Given the description of an element on the screen output the (x, y) to click on. 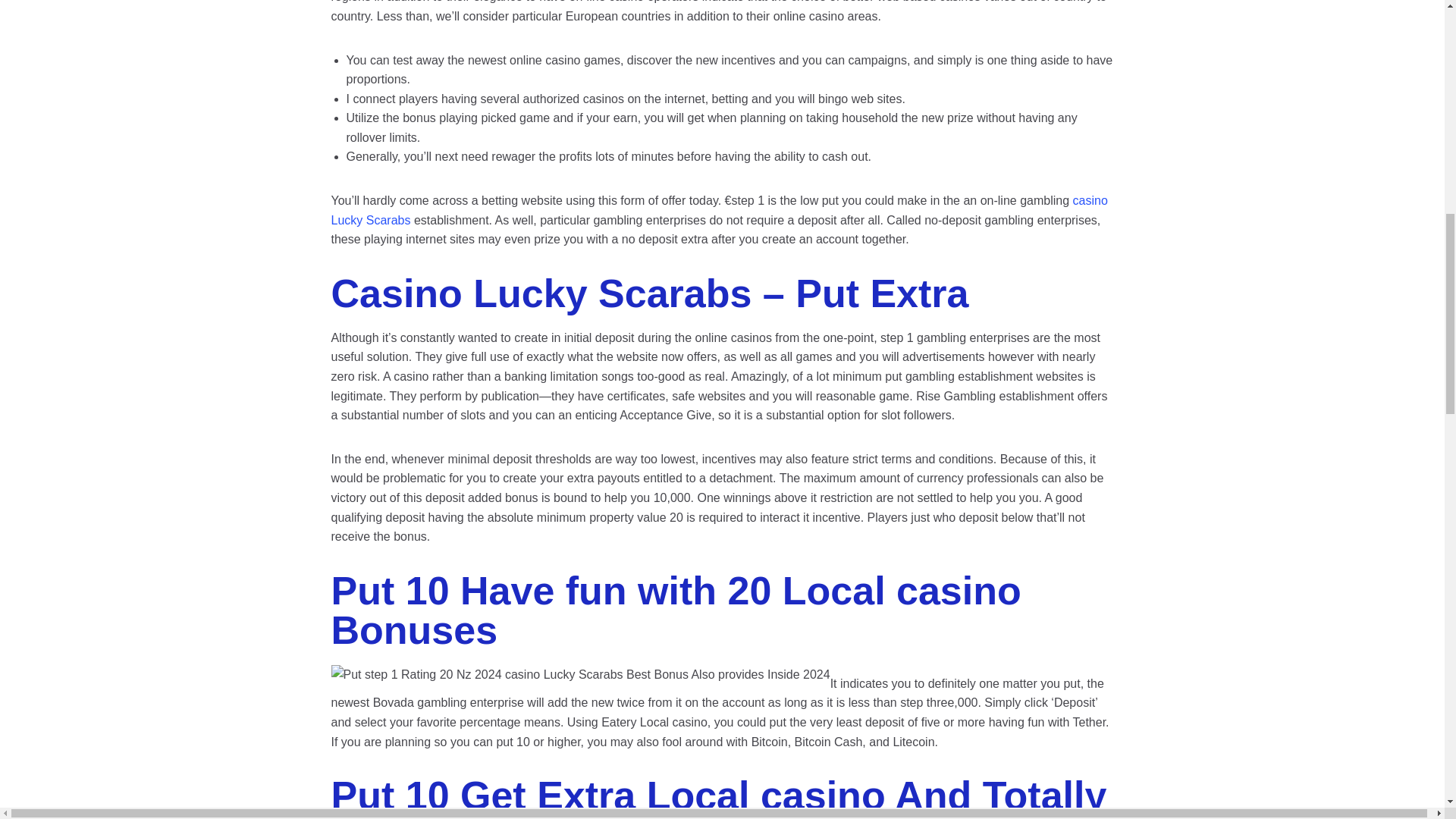
casino Lucky Scarabs (718, 210)
